Given the description of an element on the screen output the (x, y) to click on. 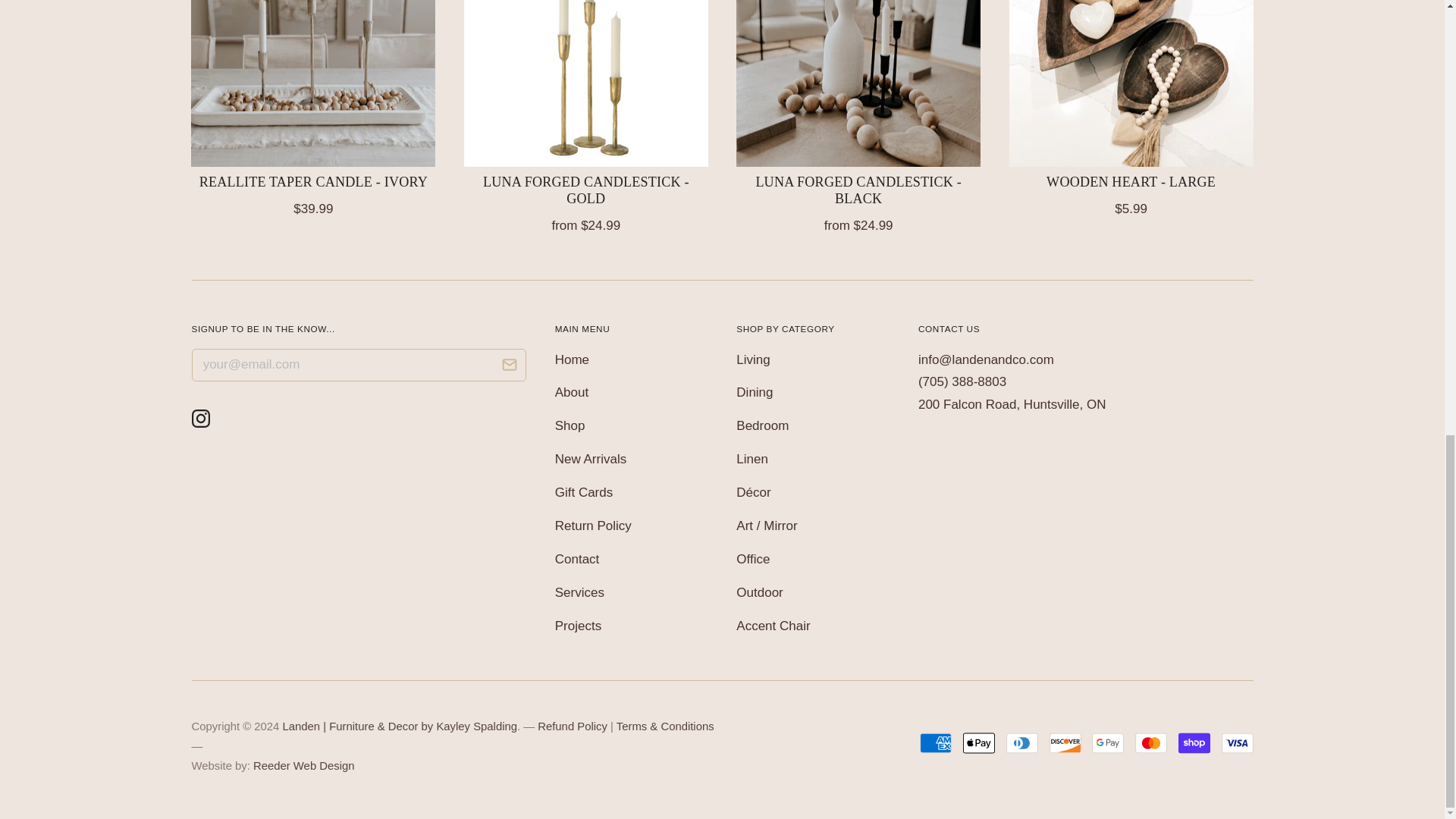
American Express (936, 743)
Visa (1236, 743)
Shop Pay (1193, 743)
Apple Pay (978, 743)
Mastercard (1151, 743)
Discover (1065, 743)
Google Pay (1108, 743)
Diners Club (1022, 743)
